Given the description of an element on the screen output the (x, y) to click on. 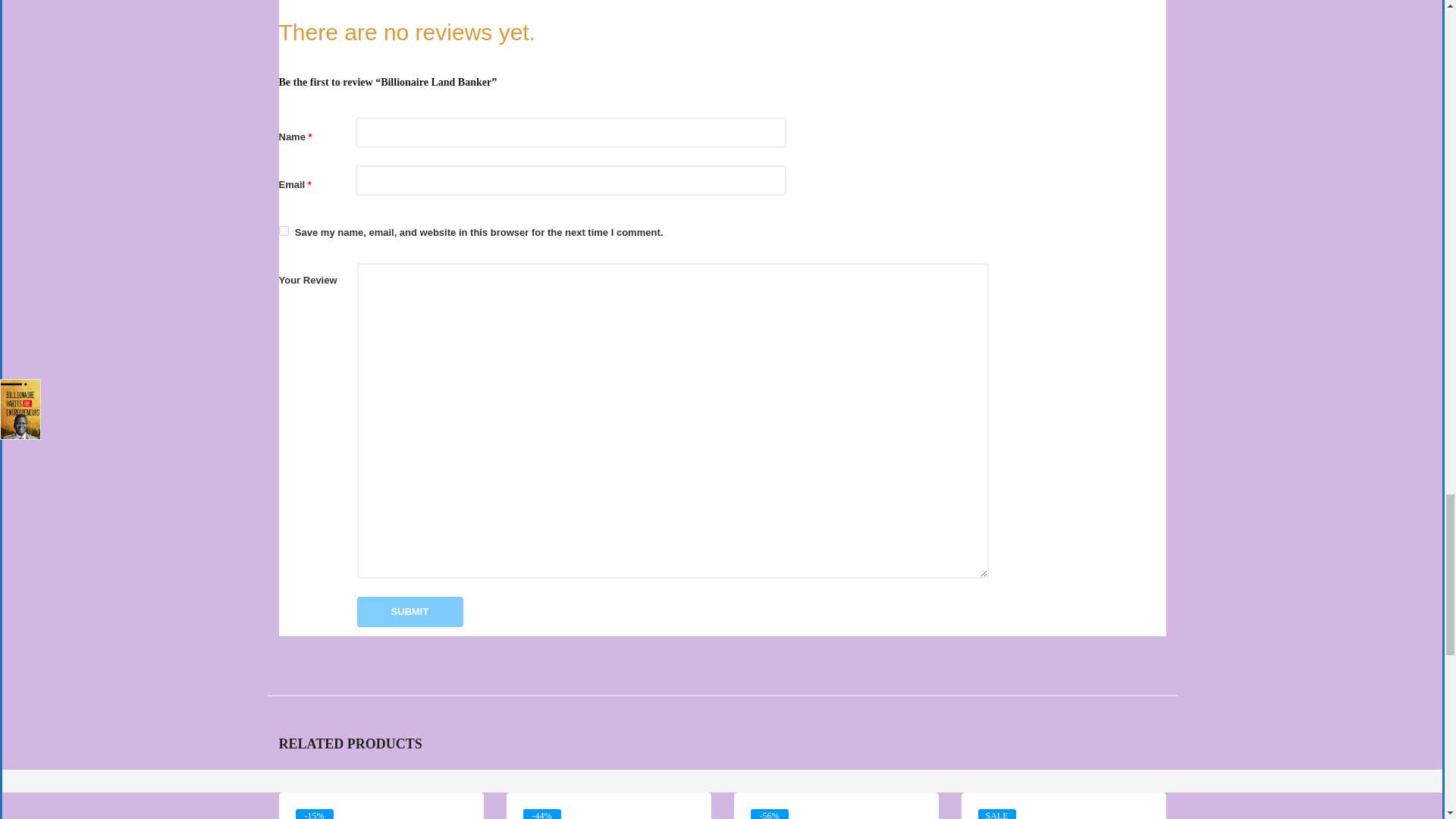
Submit (409, 612)
yes (283, 230)
